Given the description of an element on the screen output the (x, y) to click on. 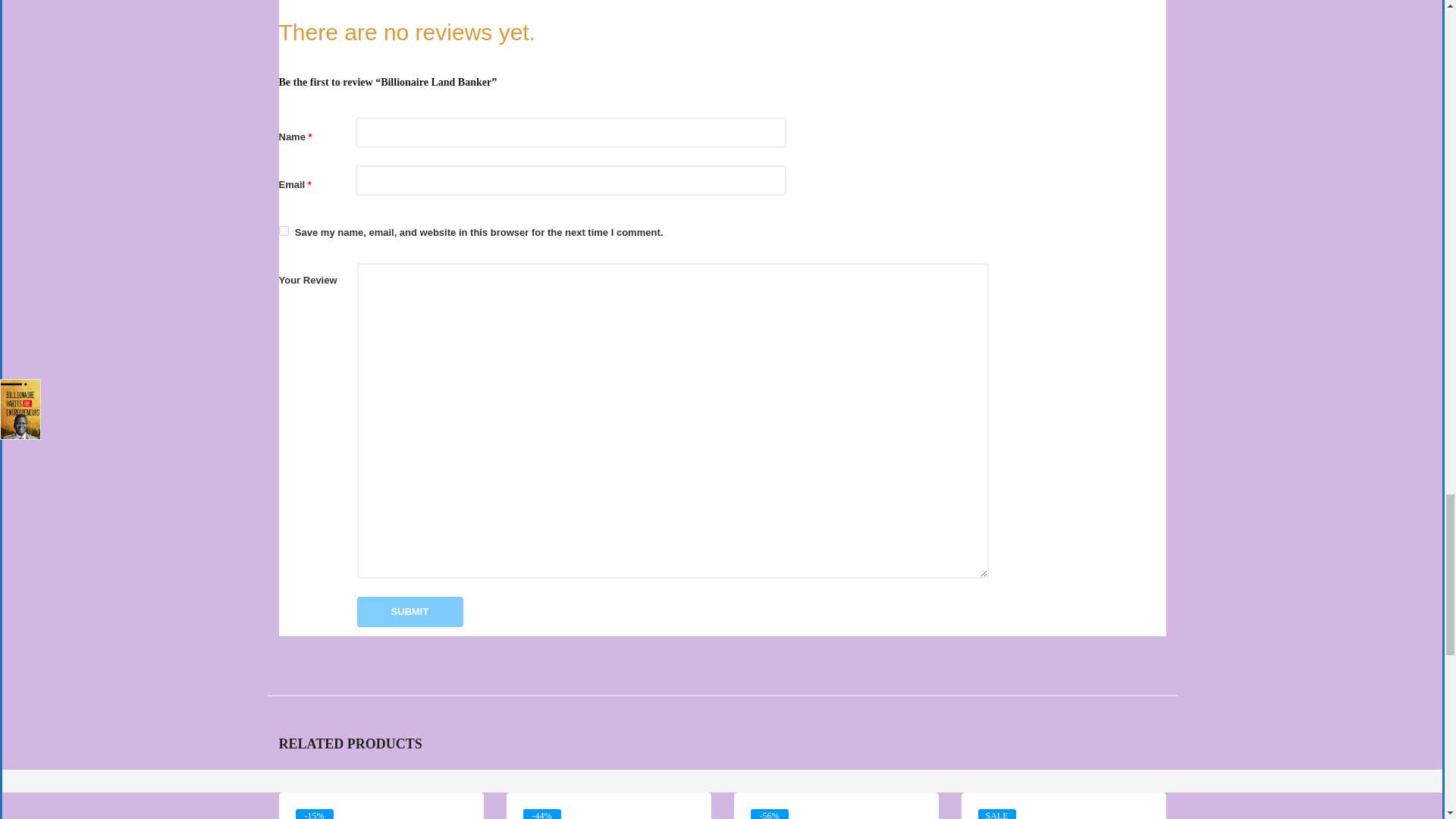
Submit (409, 612)
yes (283, 230)
